Given the description of an element on the screen output the (x, y) to click on. 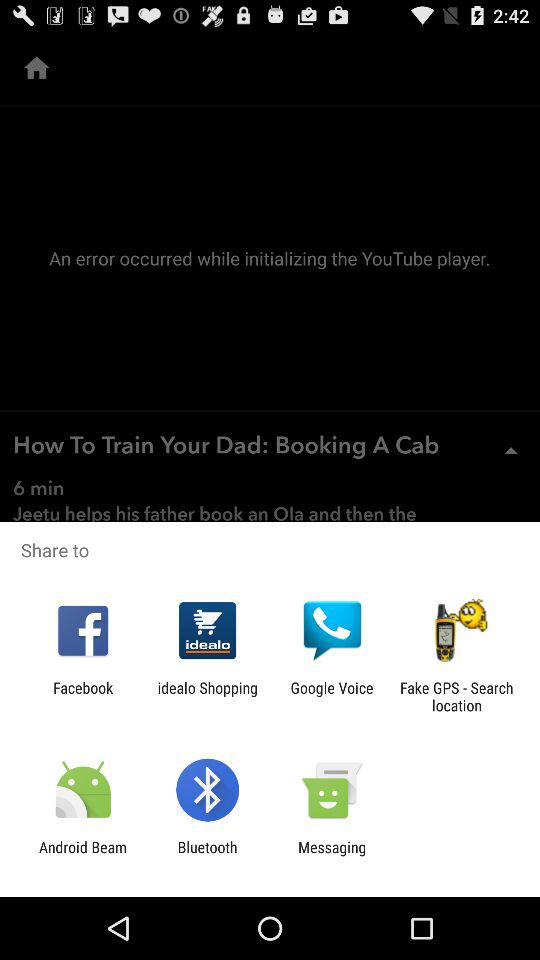
jump to google voice icon (331, 696)
